Given the description of an element on the screen output the (x, y) to click on. 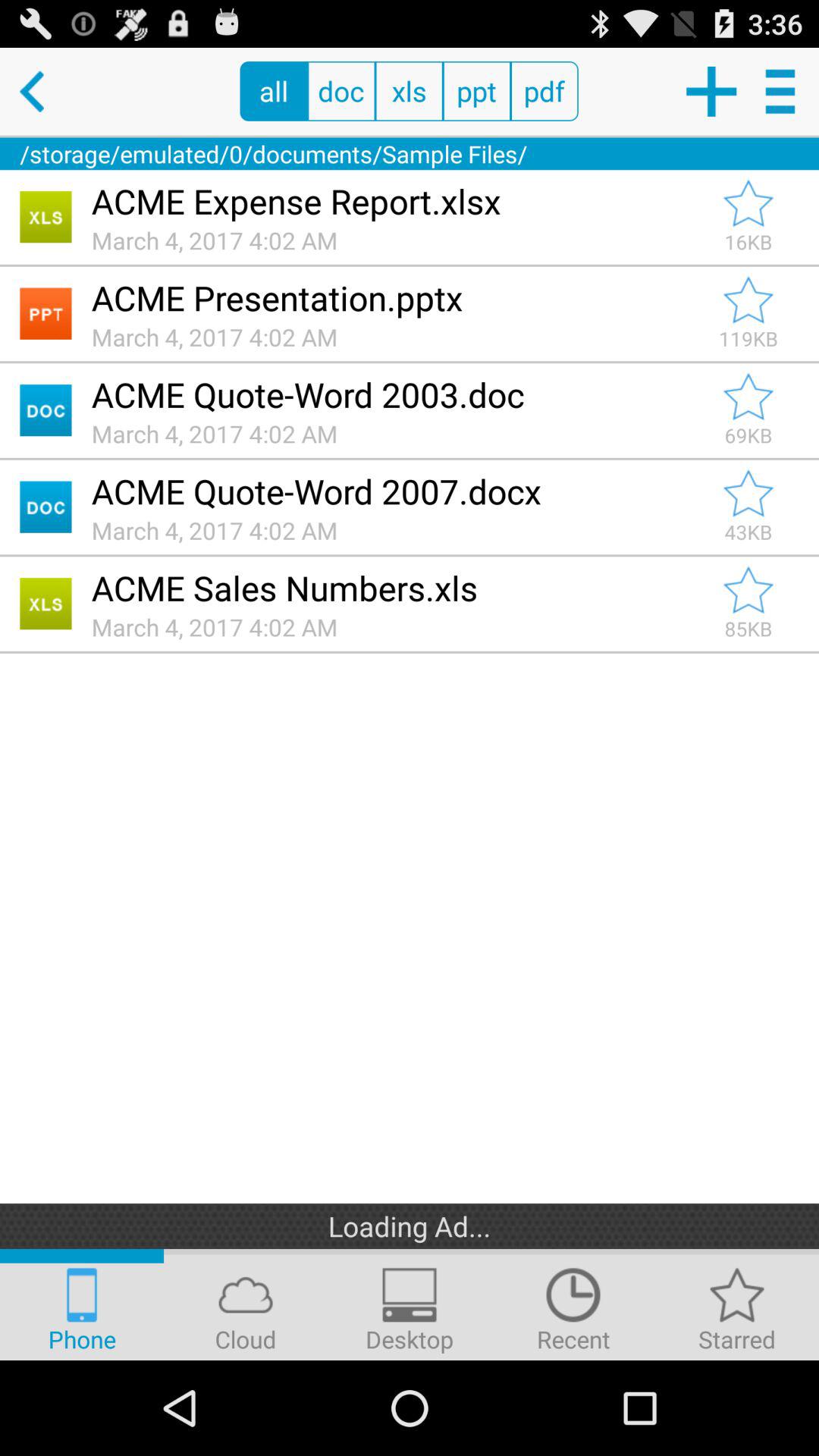
open options menu (782, 91)
